Given the description of an element on the screen output the (x, y) to click on. 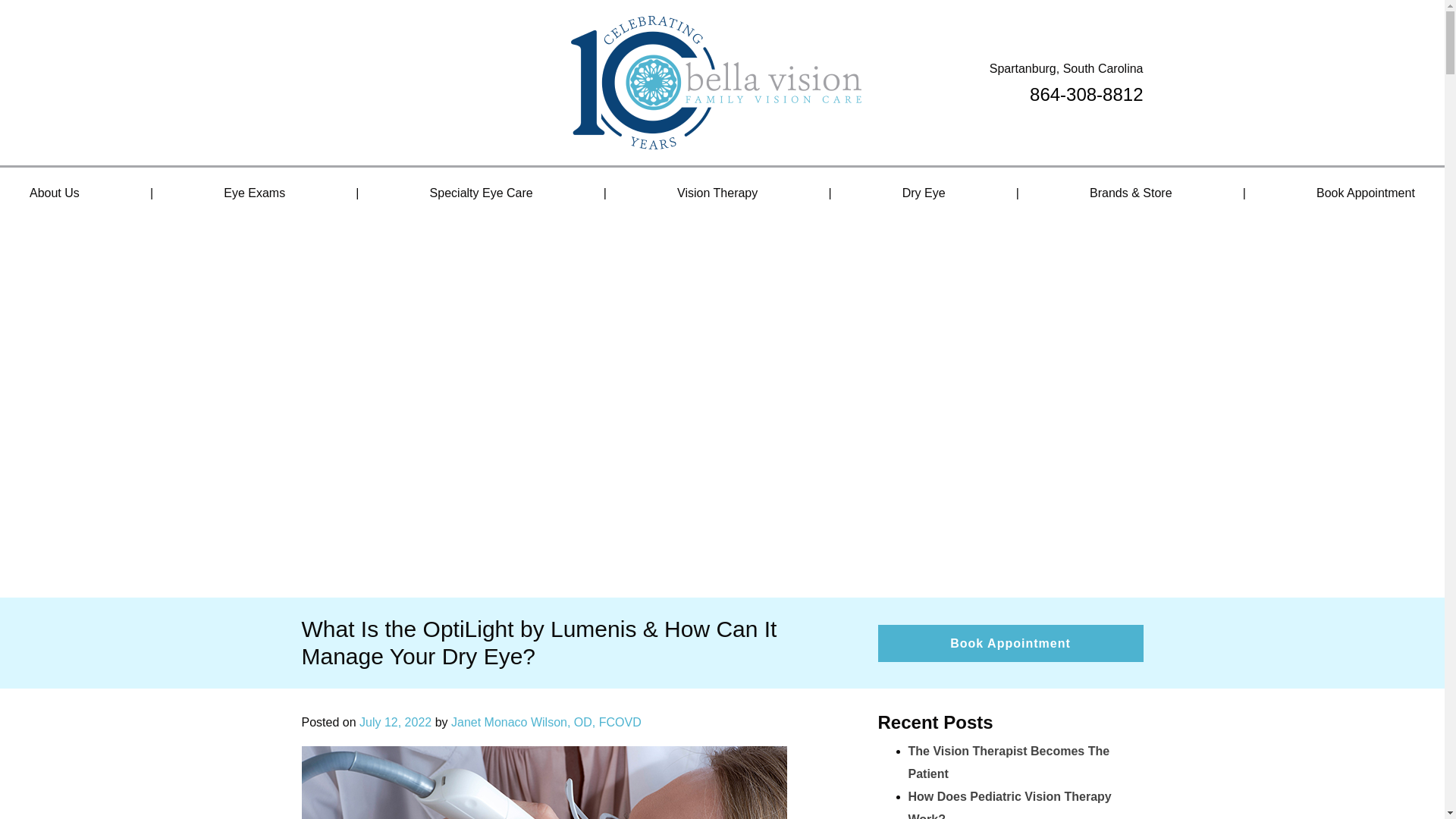
Book Appointment (1009, 642)
Eye Exams (253, 192)
Eye Exams (253, 192)
About Us (54, 192)
Book Appointment (1365, 192)
Vision Therapy (716, 192)
Dry Eye (924, 192)
Janet Monaco Wilson, OD, FCOVD (546, 721)
Specialty Eye Care (480, 192)
July 12, 2022 (394, 721)
Specialty Eye Care (480, 192)
864-308-8812 (1085, 93)
About Us (54, 192)
